Given the description of an element on the screen output the (x, y) to click on. 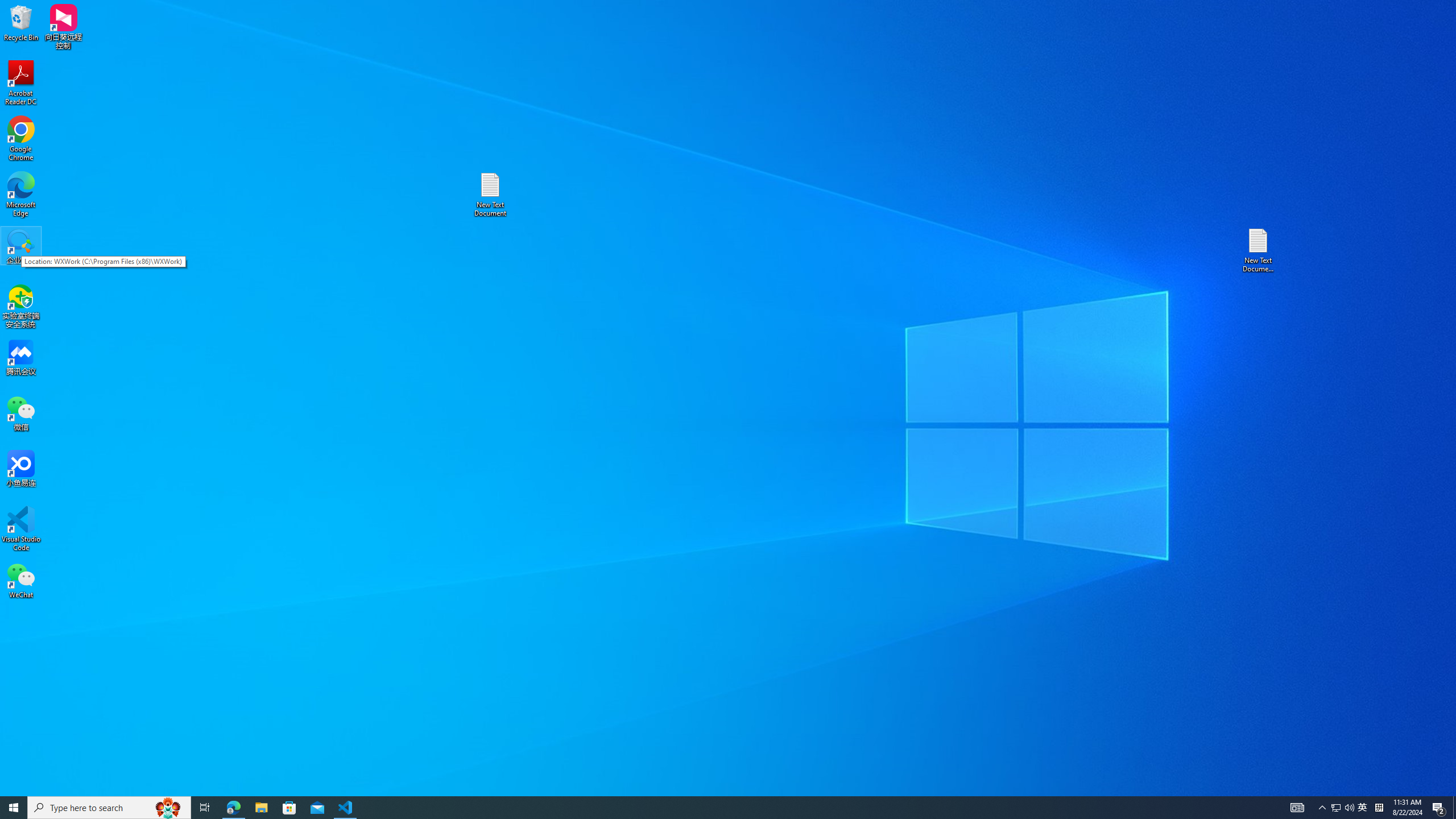
WeChat (21, 580)
New Text Document (2) (1258, 250)
